Given the description of an element on the screen output the (x, y) to click on. 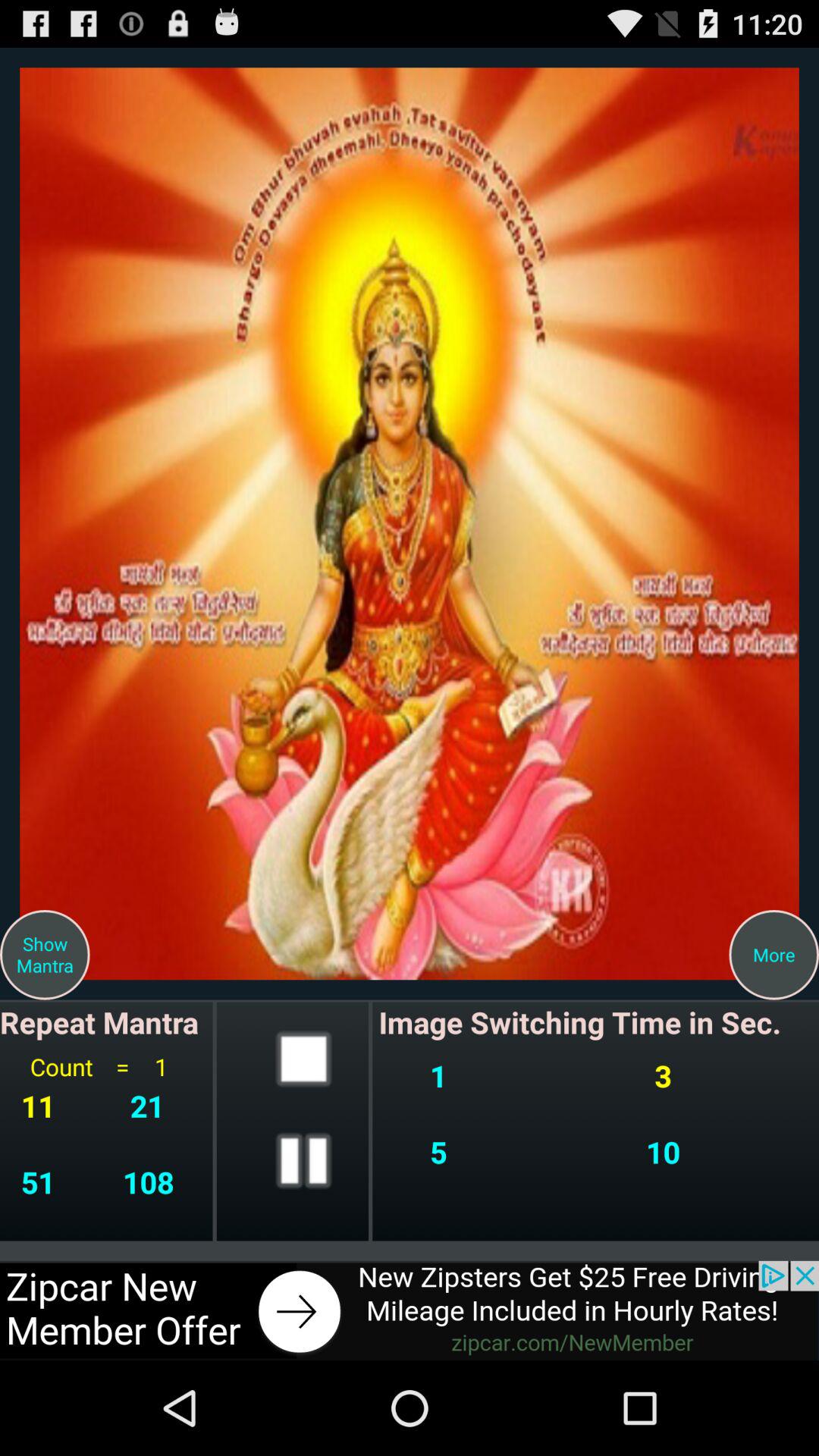
select advertisement (409, 1310)
